Given the description of an element on the screen output the (x, y) to click on. 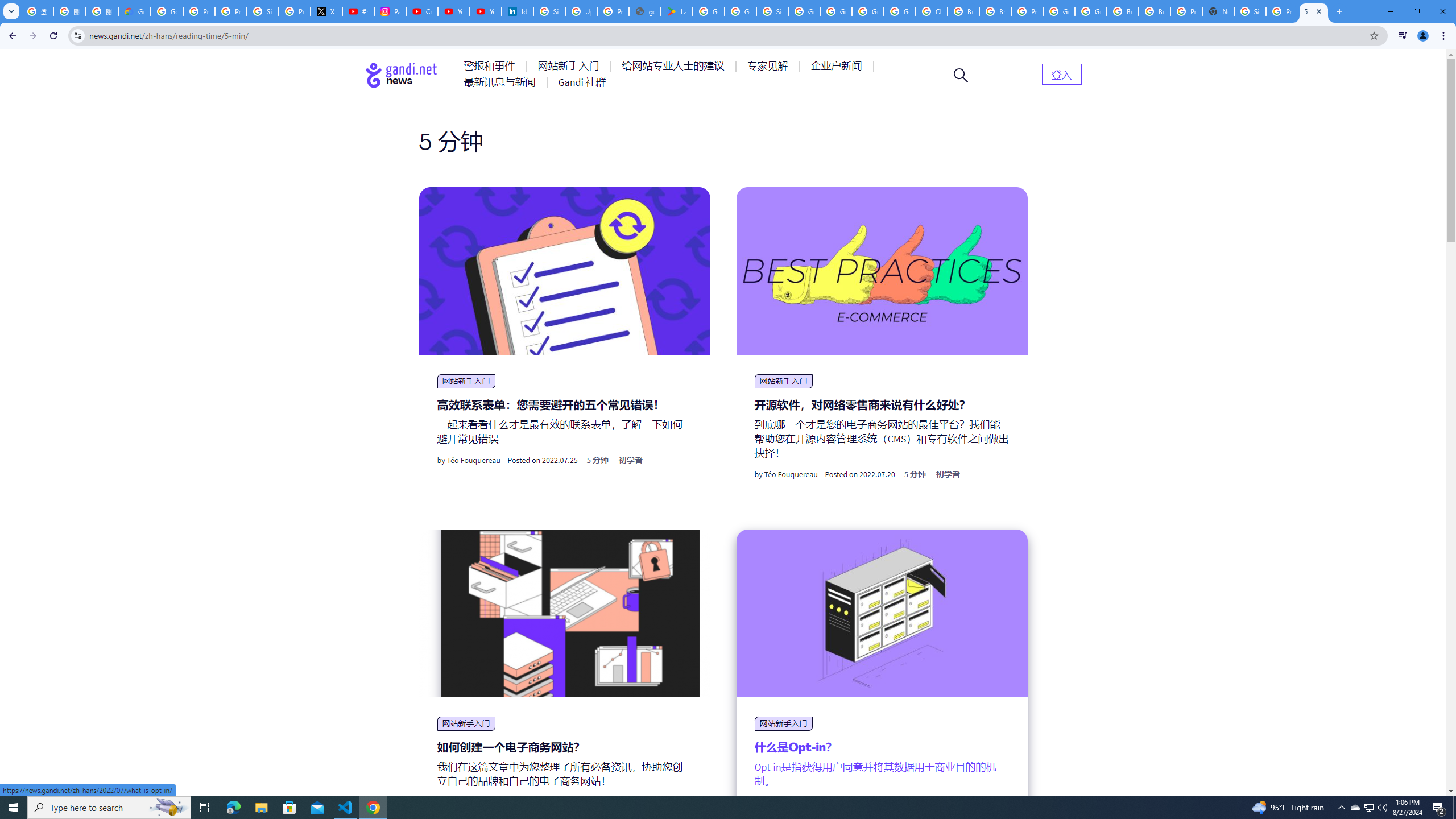
AutomationID: menu-item-77764 (769, 65)
YouTube Culture & Trends - YouTube Top 10, 2021 (485, 11)
Google Cloud Platform (1091, 11)
